Given the description of an element on the screen output the (x, y) to click on. 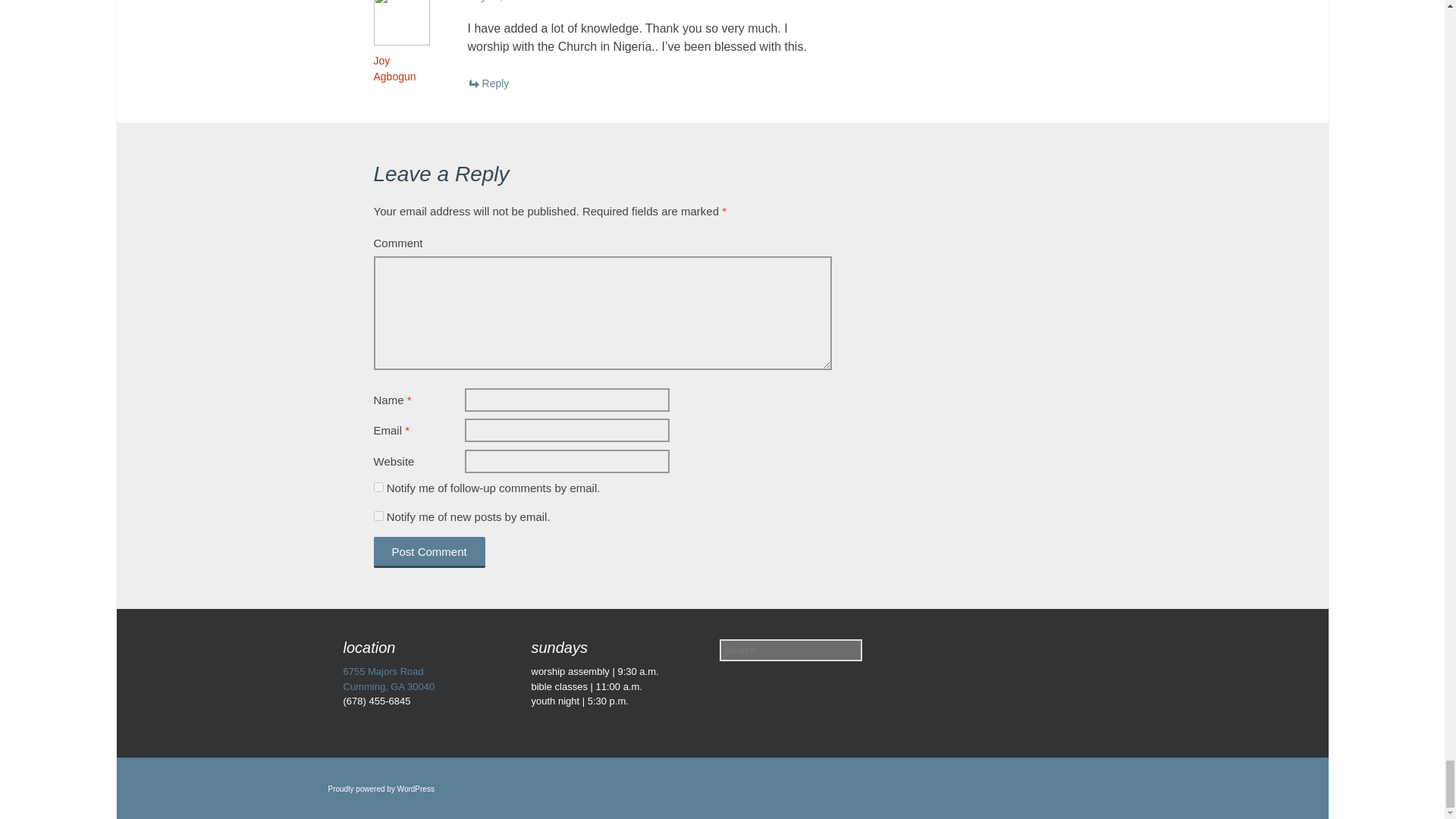
subscribe (377, 487)
subscribe (377, 515)
May 26, 2020 at 3:52 AM (521, 1)
Post Comment (428, 552)
